Given the description of an element on the screen output the (x, y) to click on. 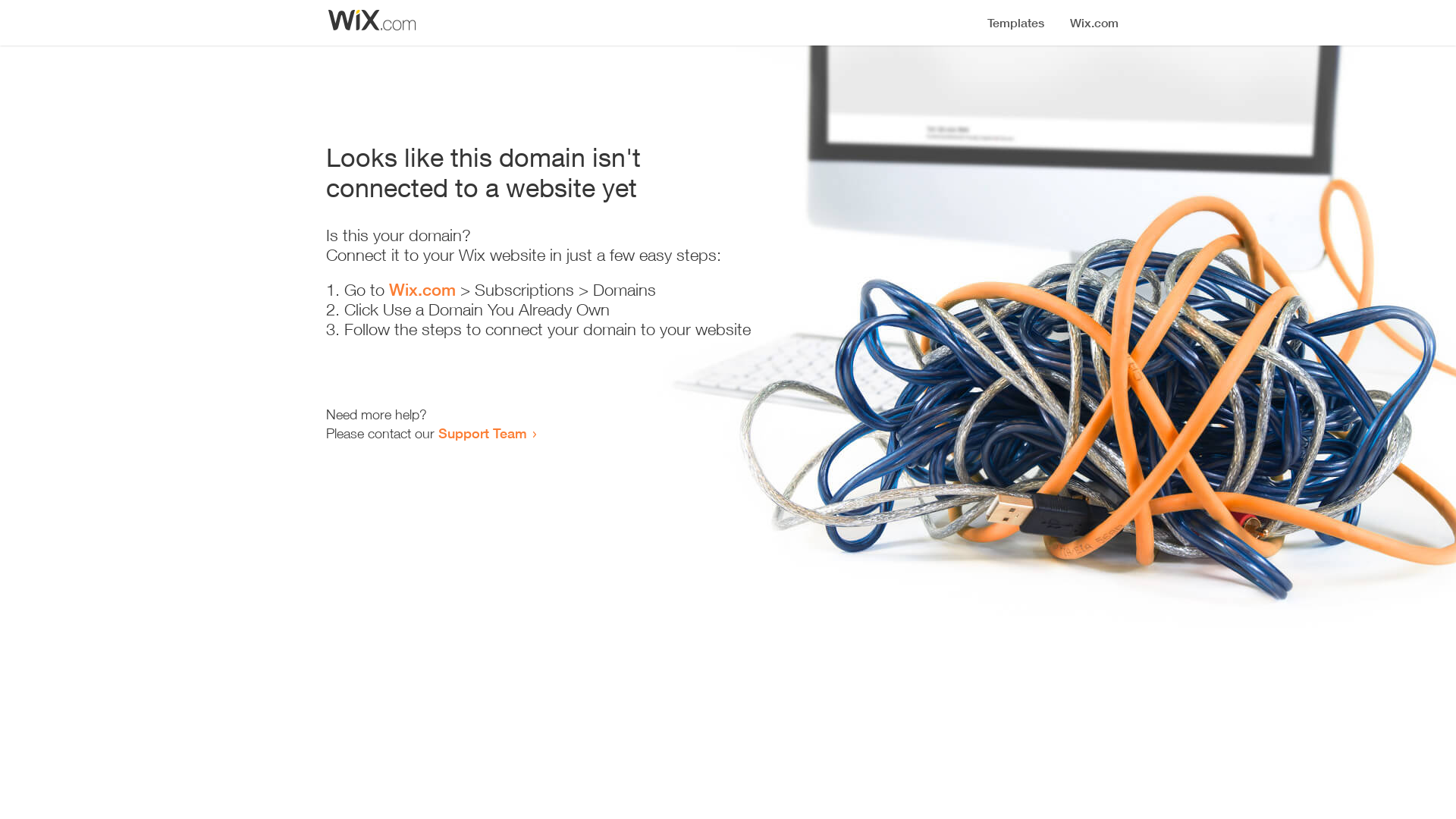
Support Team Element type: text (482, 432)
Wix.com Element type: text (422, 289)
